Given the description of an element on the screen output the (x, y) to click on. 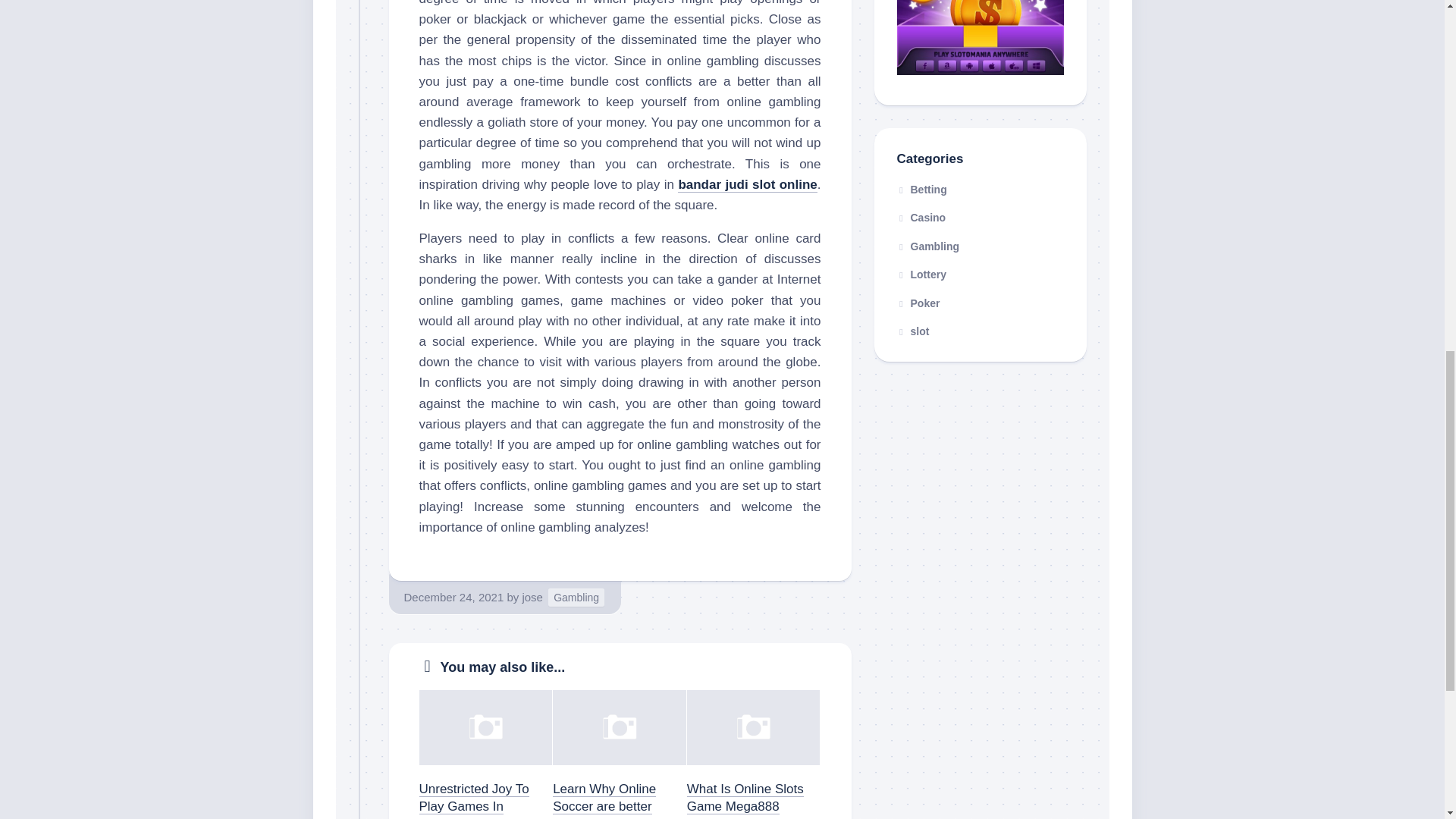
Gambling (576, 597)
Betting (921, 189)
slot (912, 331)
Gambling (927, 246)
Lottery (920, 274)
Casino (920, 217)
Poker (917, 303)
Learn Why Online Soccer are better than Real Ones (604, 800)
bandar judi slot online (747, 184)
